Given the description of an element on the screen output the (x, y) to click on. 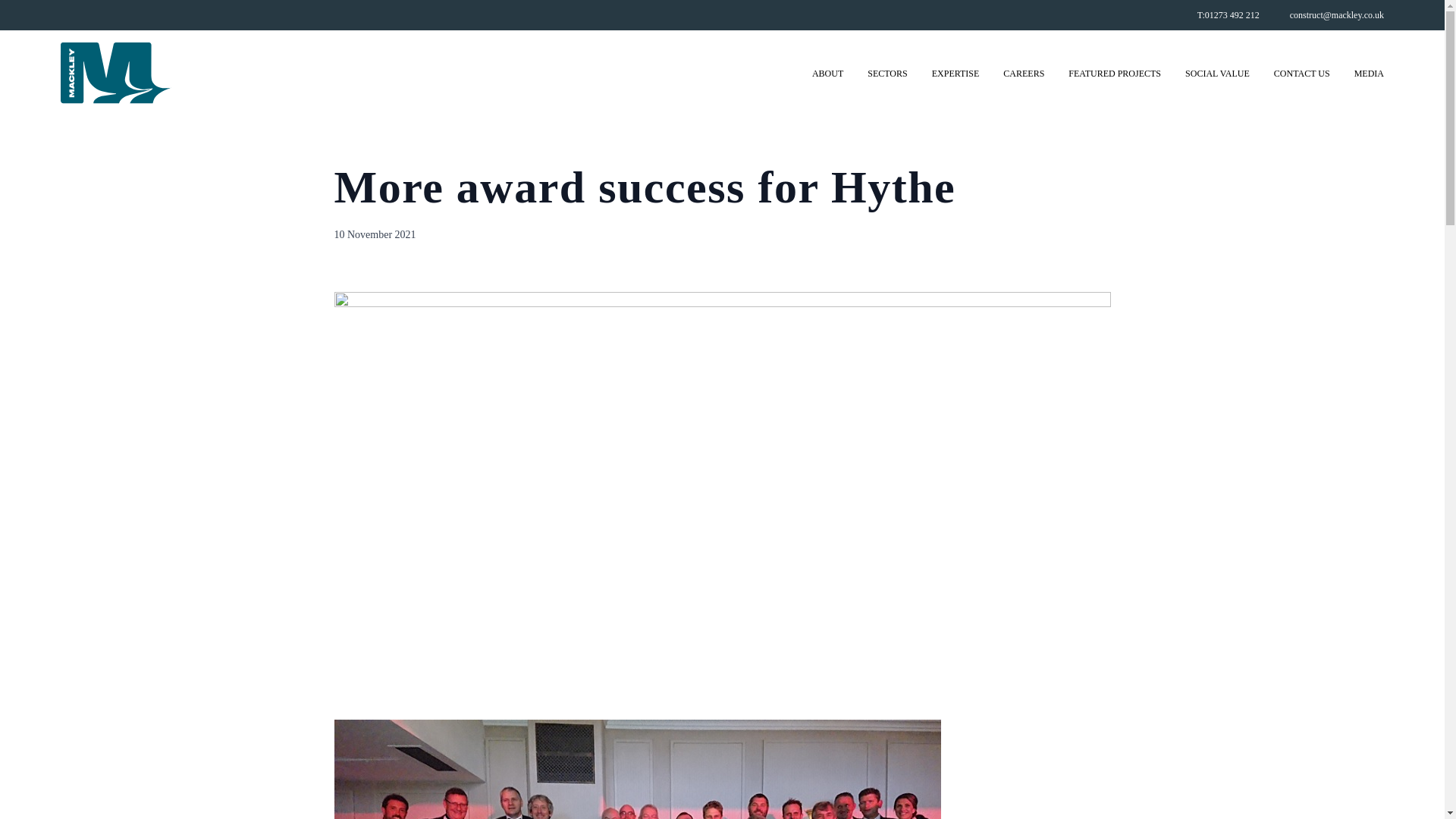
FEATURED PROJECTS (1114, 73)
CONTACT US (1302, 73)
SOCIAL VALUE (1217, 73)
SECTORS (887, 73)
CAREERS (1023, 73)
ABOUT (827, 73)
EXPERTISE (955, 73)
T:01273 492 212 (1227, 14)
